Given the description of an element on the screen output the (x, y) to click on. 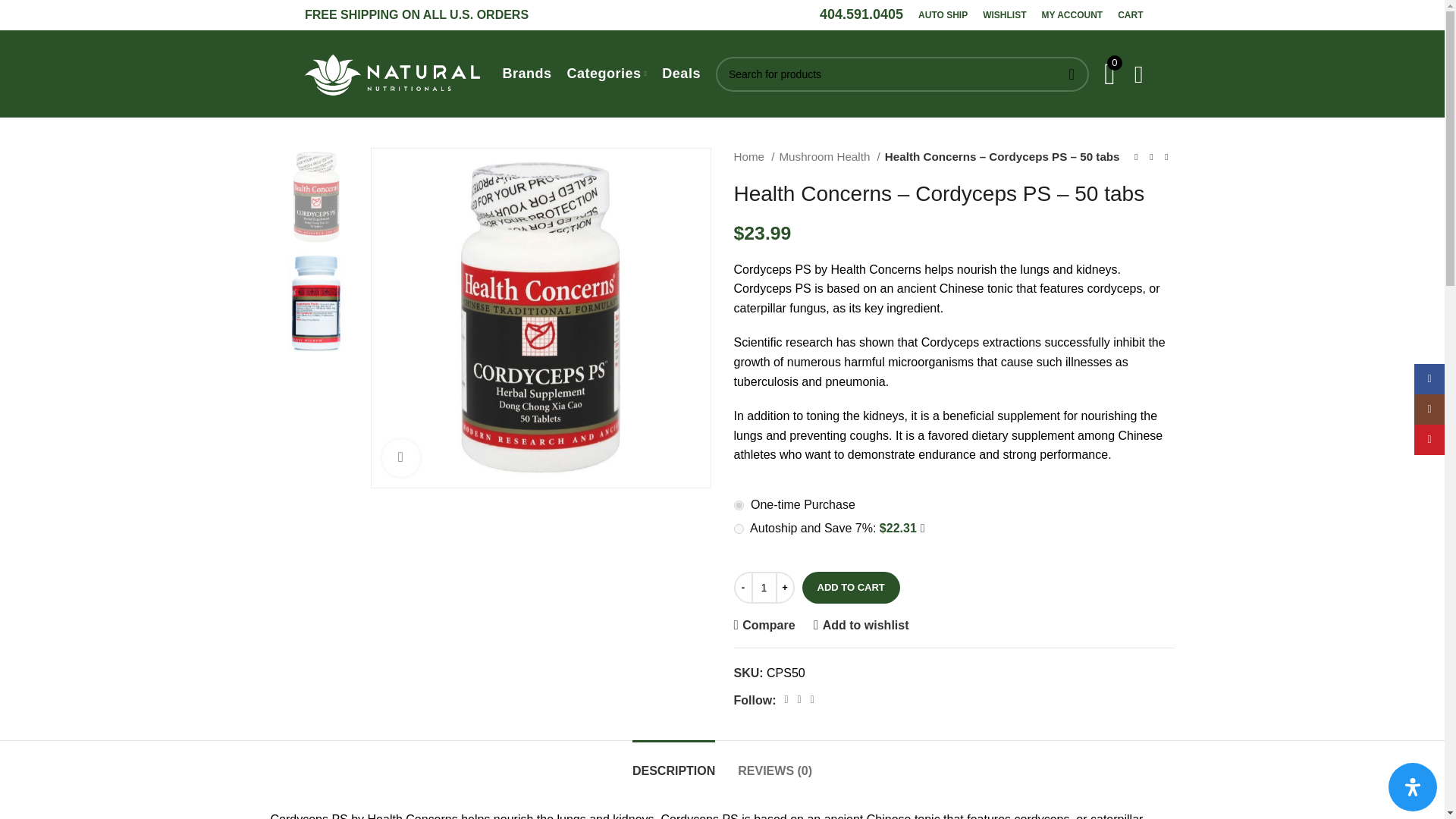
WISHLIST (1004, 15)
MY ACCOUNT (1072, 15)
Brands (526, 73)
404.591.0405 (860, 14)
AUTO SHIP (943, 15)
Search for products (902, 73)
no (738, 505)
yes (738, 528)
Categories (607, 73)
